Given the description of an element on the screen output the (x, y) to click on. 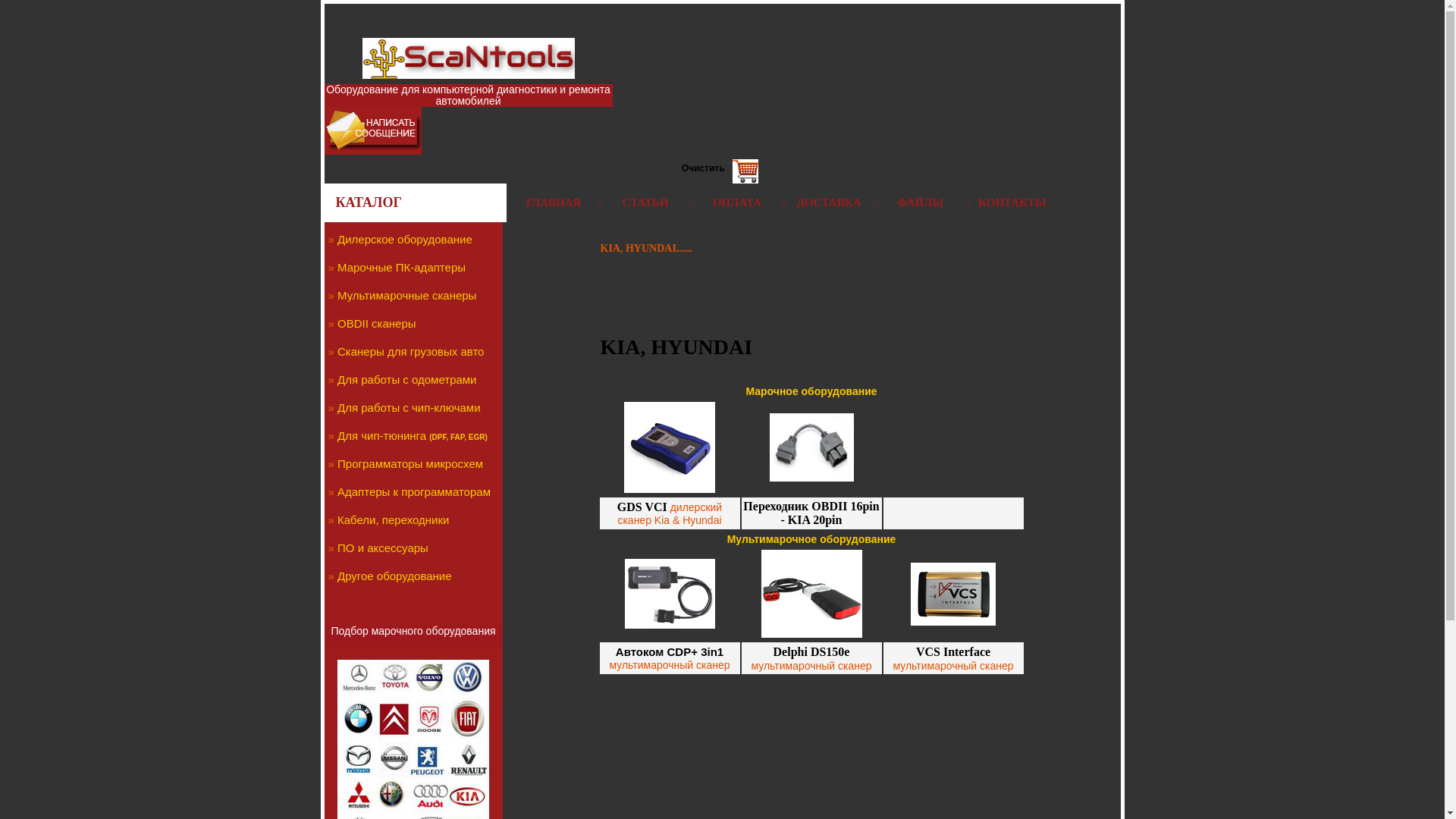
GDS VCI Element type: text (642, 506)
VCS Interface Element type: text (953, 650)
KIA, HYUNDAI...... Element type: text (646, 248)
(DPF, FAP, EGR) Element type: text (458, 437)
Delphi DS150e Element type: text (811, 650)
